Given the description of an element on the screen output the (x, y) to click on. 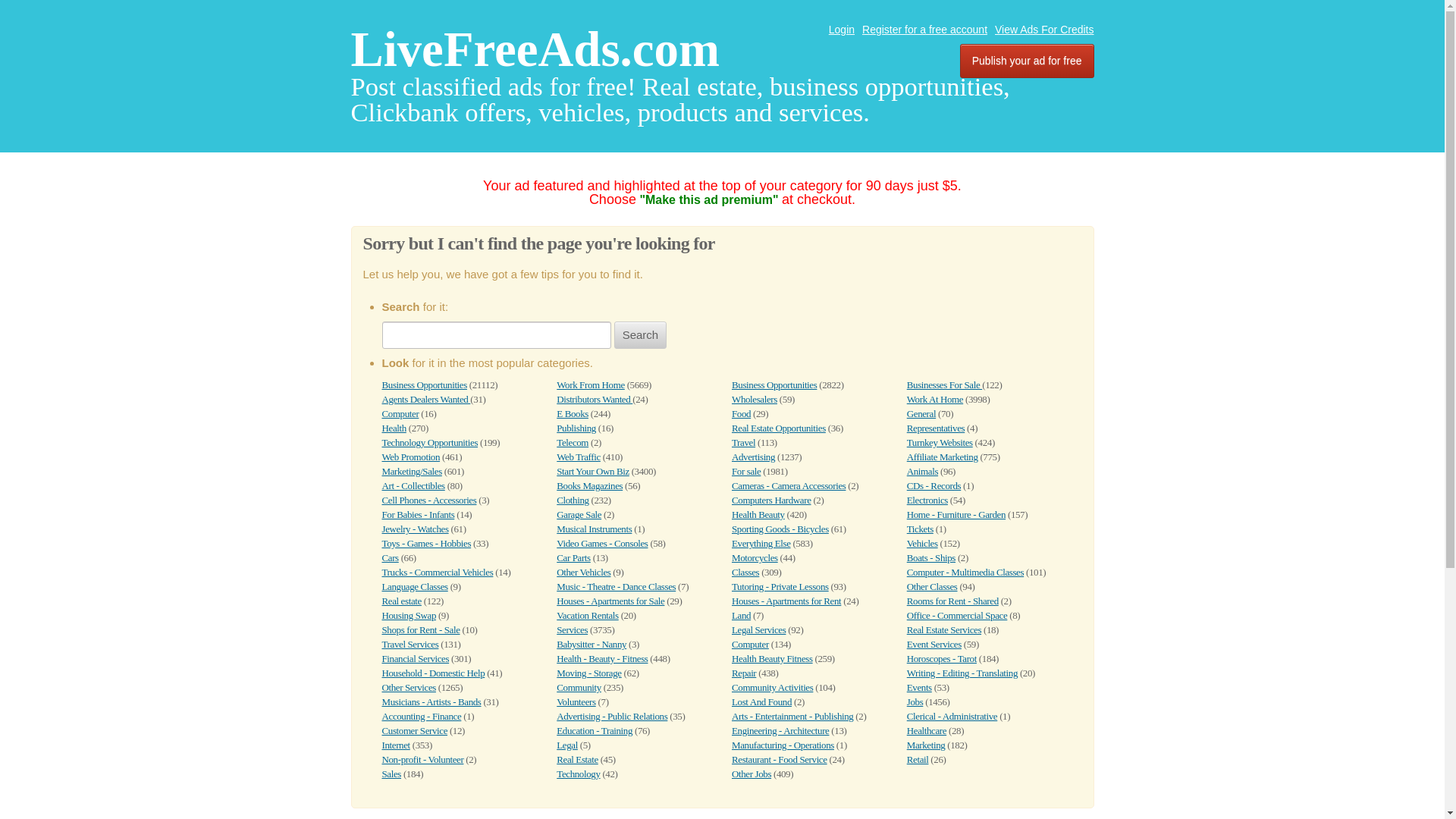
Web Promotion (411, 456)
Technology Opportunities (430, 441)
Books Magazines (589, 485)
Businesses For Sale (944, 384)
Real Estate Opportunities (778, 428)
Search (640, 334)
For sale (746, 471)
Distributors Wanted (593, 398)
Agents Dealers Wanted (425, 398)
Register for a free account (924, 29)
Representatives (935, 428)
General (921, 413)
Start Your Own Biz (592, 471)
Food (741, 413)
Art - Collectibles (413, 485)
